Given the description of an element on the screen output the (x, y) to click on. 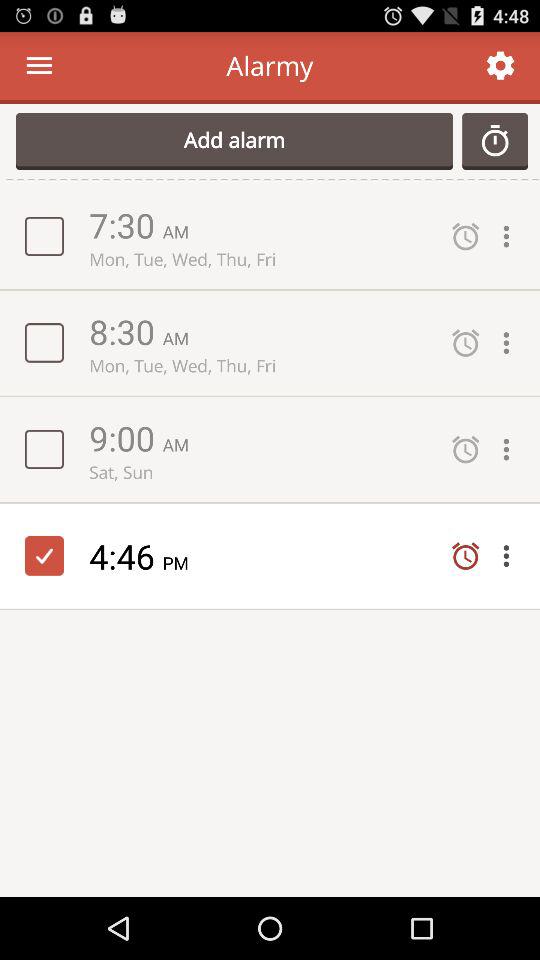
alarm options (511, 555)
